Given the description of an element on the screen output the (x, y) to click on. 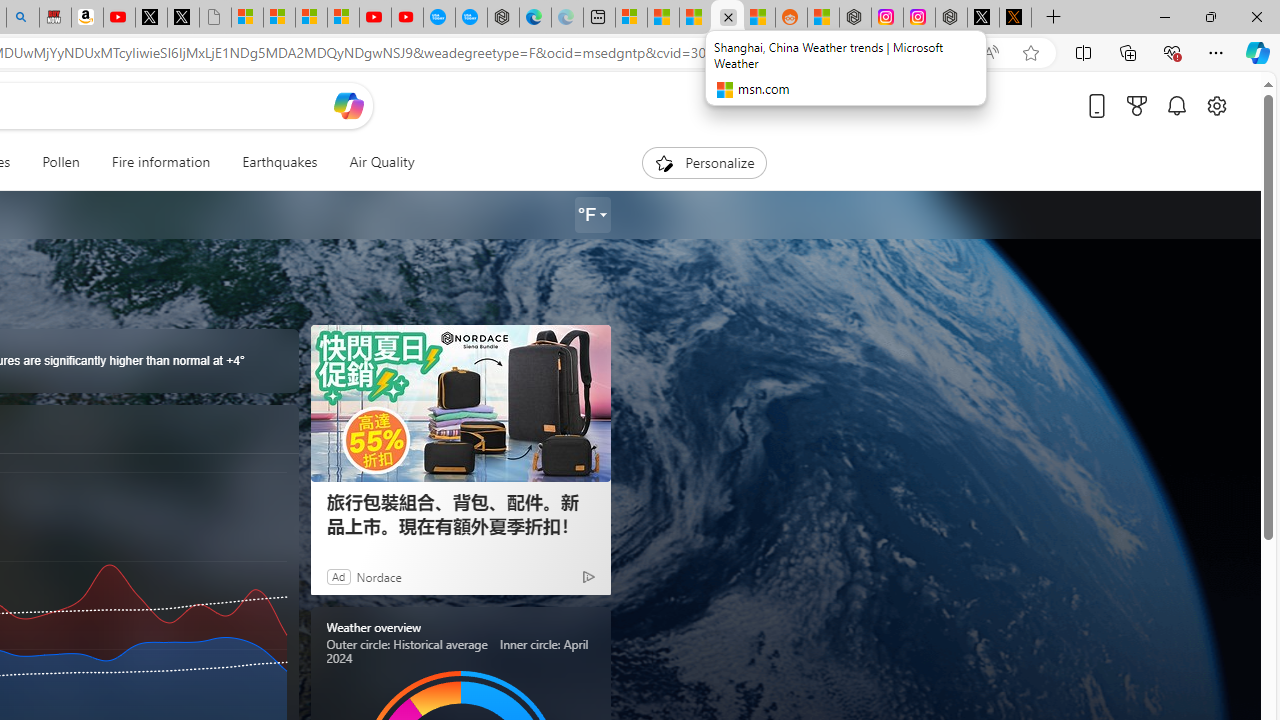
Pollen (60, 162)
Earthquakes (280, 162)
Pollen (60, 162)
Personalize (703, 162)
Air Quality (381, 162)
